Given the description of an element on the screen output the (x, y) to click on. 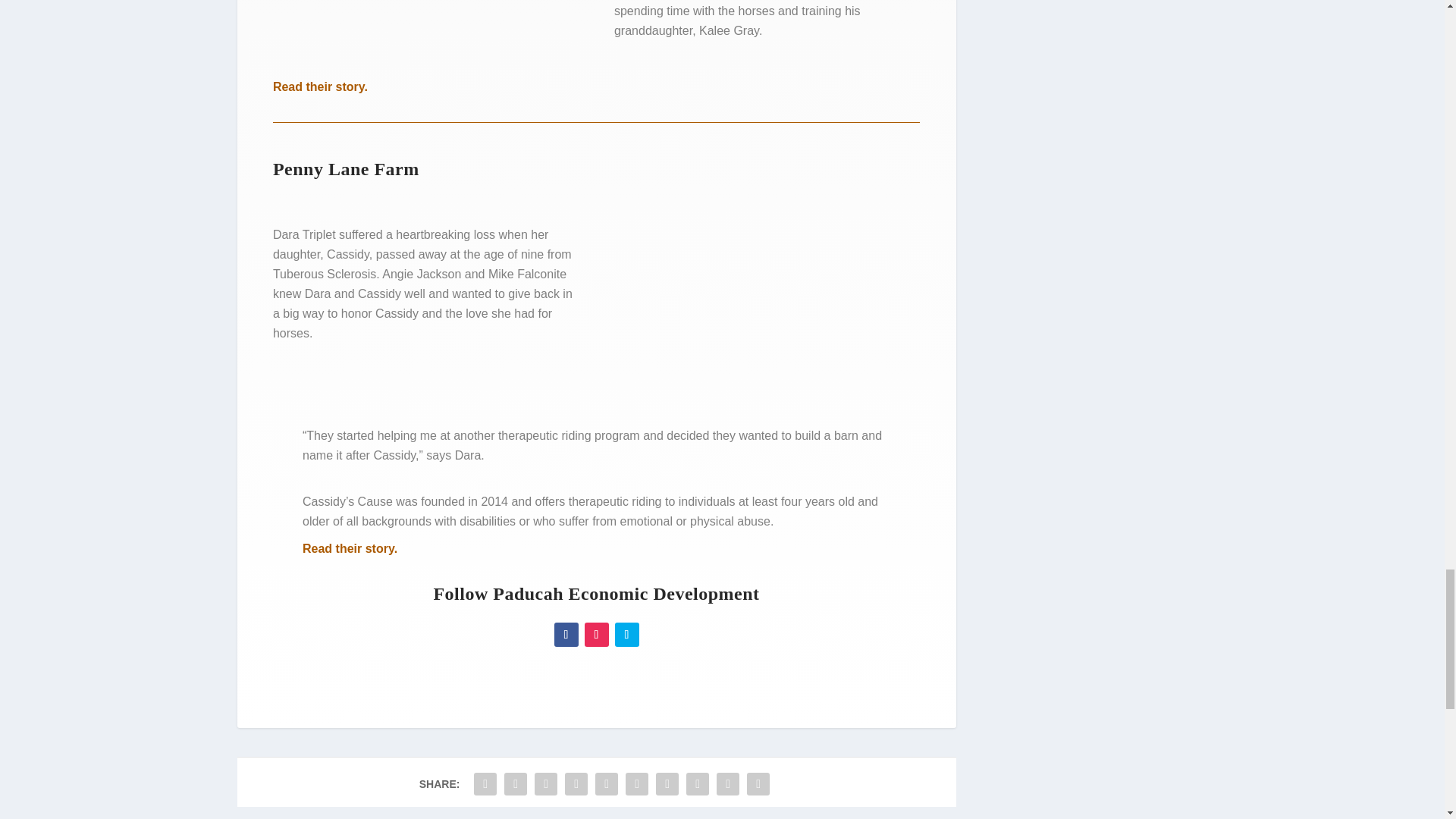
Follow on Twitter (626, 634)
Follow on Facebook (565, 634)
Follow on Instagram (595, 634)
